Given the description of an element on the screen output the (x, y) to click on. 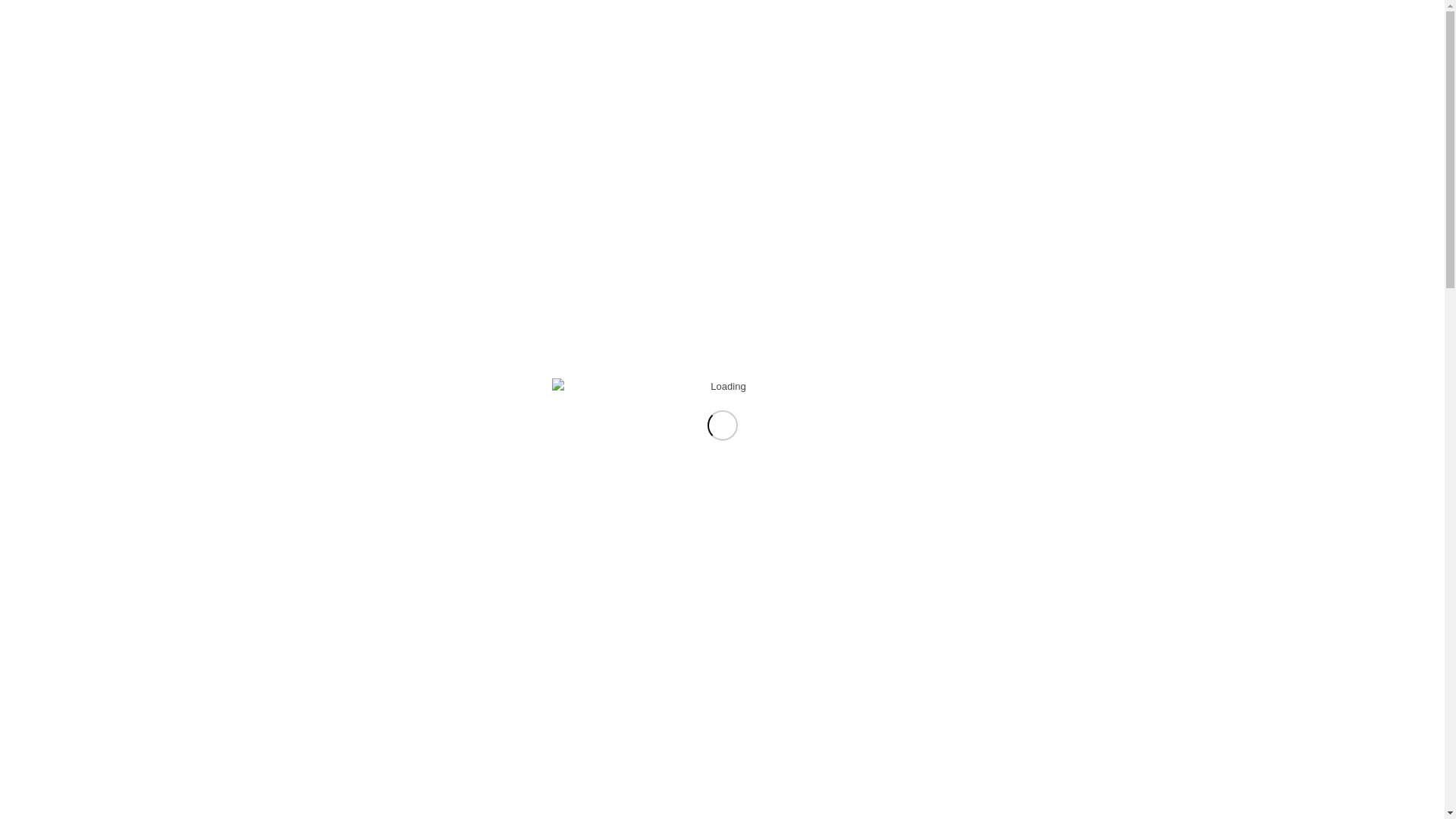
+32 (0)475 83 86 05 Element type: text (801, 551)
National Element type: text (58, 231)
+32 (0)2 377 74 01 Element type: text (59, 354)
English Element type: text (29, 403)
+32 (0)2 377 74 01 Element type: text (46, 56)
Lift-service Element type: text (41, 273)
News Element type: text (29, 338)
International Element type: text (67, 252)
+32 (0)475 83 86 05 Element type: text (49, 72)
info@balza-removals.be Element type: text (58, 88)
Equipment Element type: text (41, 305)
Furniture storage Element type: text (55, 289)
Nederlands Element type: text (37, 419)
Home Element type: text (30, 196)
+32 (0)475 83 86 05 Element type: text (62, 370)
Menu Element type: text (18, 436)
Contact Element type: text (34, 322)
Contact us Element type: text (623, 551)
Removal Element type: text (37, 212)
Loading Element type: hover (722, 386)
